Given the description of an element on the screen output the (x, y) to click on. 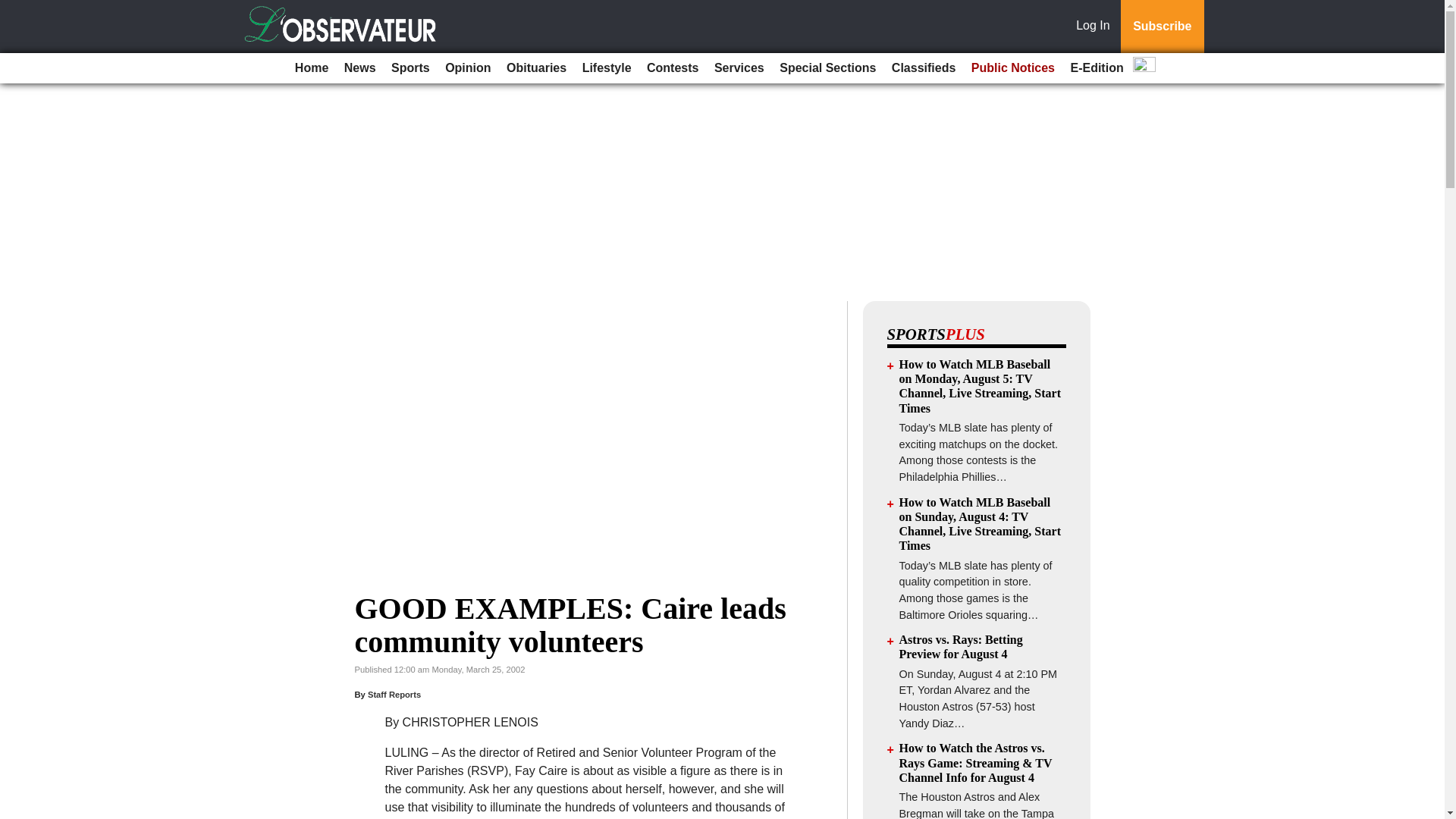
Contests (672, 68)
Staff Reports (394, 694)
Obituaries (536, 68)
Special Sections (827, 68)
Go (13, 9)
Log In (1095, 26)
Astros vs. Rays: Betting Preview for August 4 (961, 646)
Sports (410, 68)
E-Edition (1096, 68)
